Given the description of an element on the screen output the (x, y) to click on. 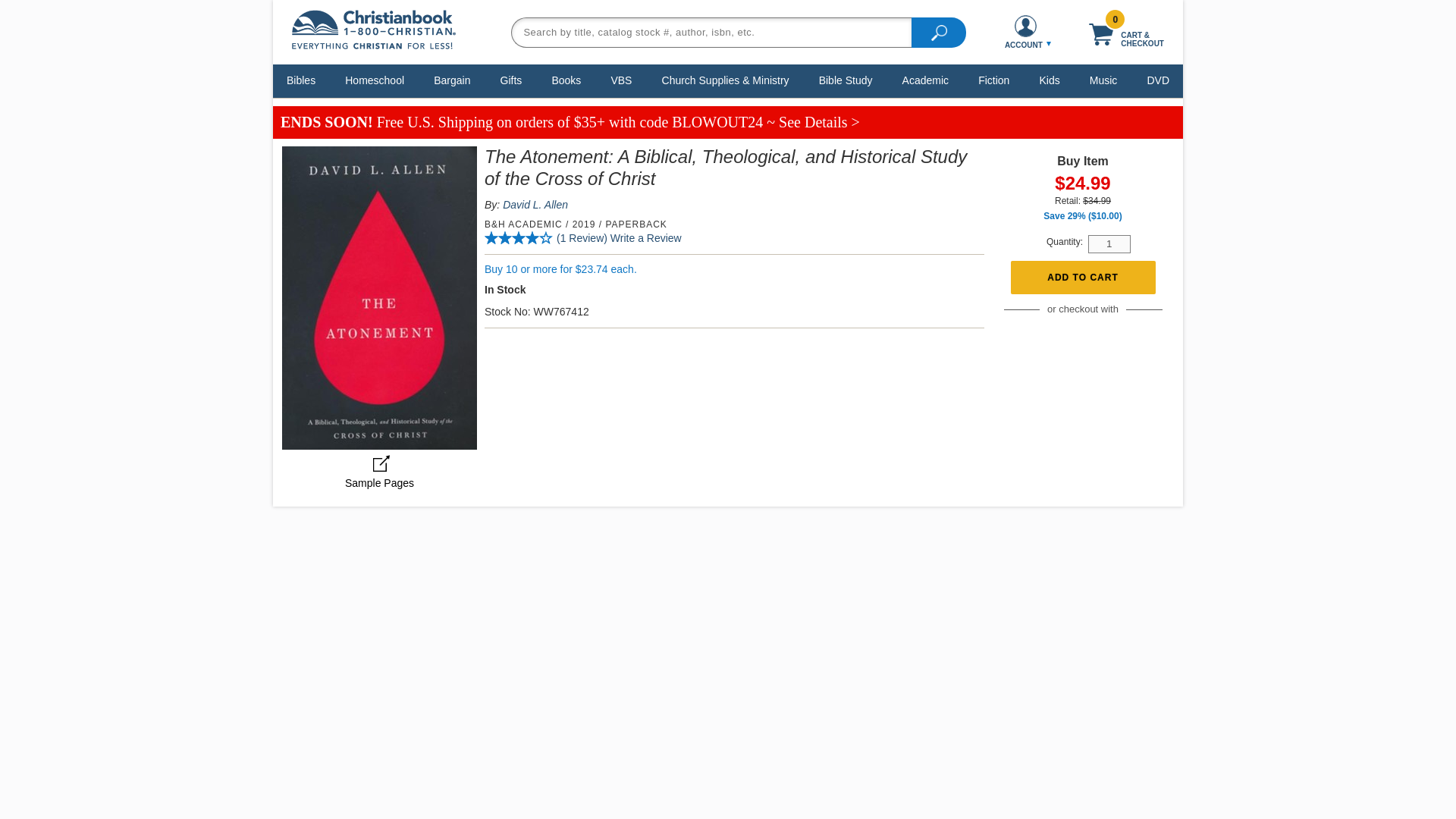
Fiction (993, 79)
Kids (1048, 79)
Homeschool (374, 79)
Gifts (511, 79)
ACCOUNT (1025, 32)
VBS (621, 79)
Bargain (452, 79)
Books (566, 79)
Music (1103, 79)
SEARCH (938, 31)
